Given the description of an element on the screen output the (x, y) to click on. 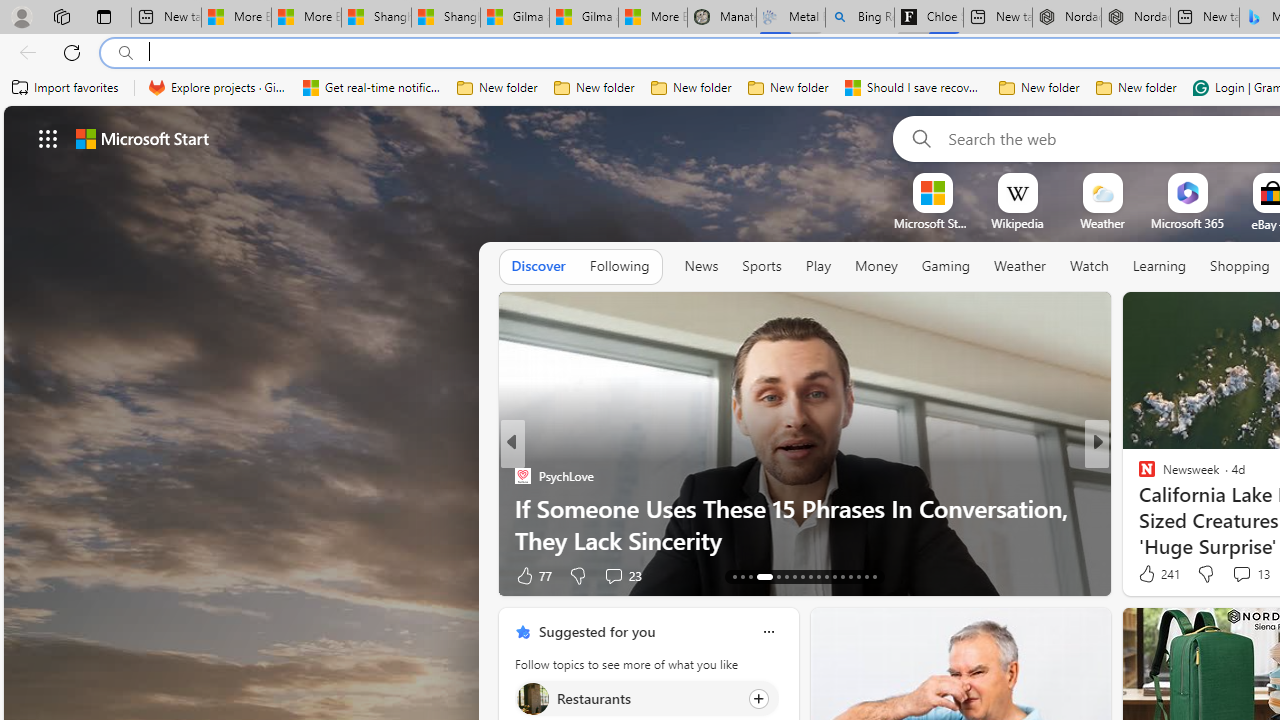
AutomationID: waffle (47, 138)
15 Like (1149, 574)
View comments 22 Comment (1234, 575)
AutomationID: tab-27 (857, 576)
Craft Your Happy Place (1138, 507)
Search icon (125, 53)
nki.no (1146, 475)
View comments 13 Comment (1241, 573)
AutomationID: tab-21 (810, 576)
Shopping (1240, 265)
ETNT Mind+Body (1138, 475)
